Given the description of an element on the screen output the (x, y) to click on. 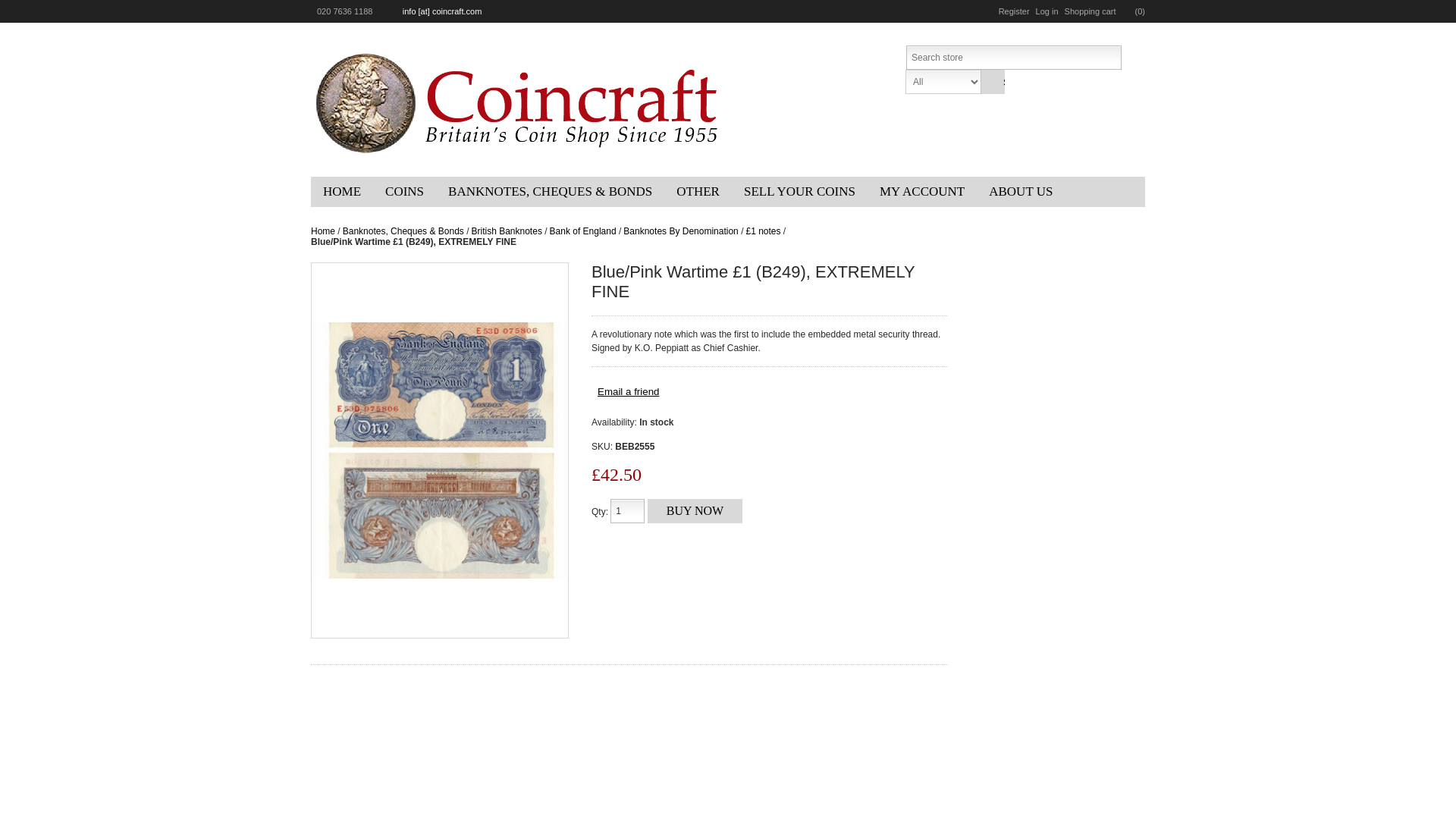
Search (991, 81)
Register (1013, 10)
1 (627, 510)
HOME (341, 191)
Coincraft.com (519, 101)
Search (991, 81)
Search (991, 81)
Buy Now (694, 510)
Home (341, 191)
Log in (1046, 10)
